Given the description of an element on the screen output the (x, y) to click on. 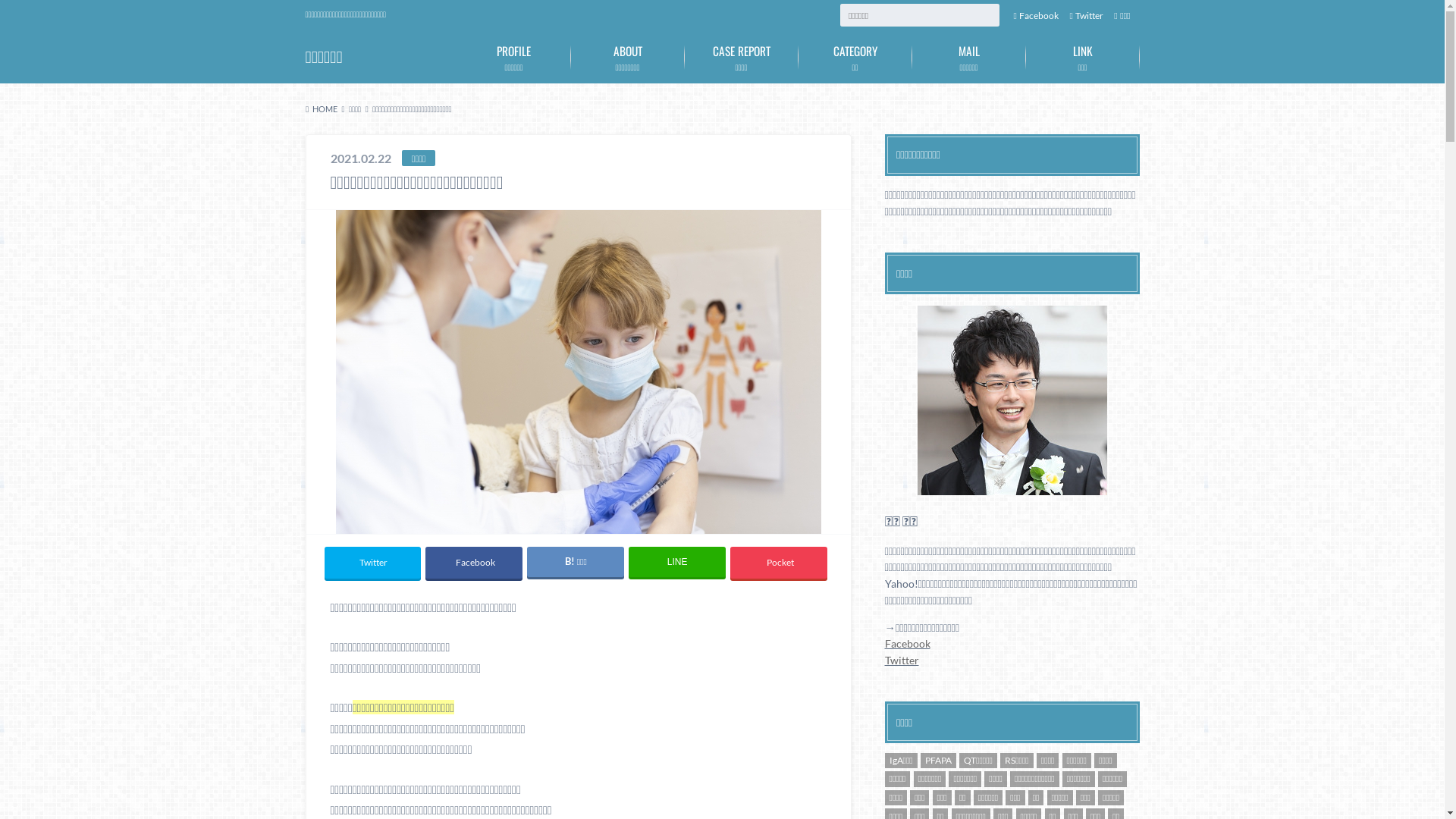
Twitter Element type: text (372, 562)
Facebook Element type: text (473, 562)
Twitter Element type: text (901, 659)
Twitter Element type: text (1086, 15)
LINE Element type: text (676, 561)
Facebook Element type: text (906, 643)
Facebook Element type: text (1035, 15)
Pocket Element type: text (778, 562)
PFAPA Element type: text (938, 760)
HOME Element type: text (320, 108)
